Given the description of an element on the screen output the (x, y) to click on. 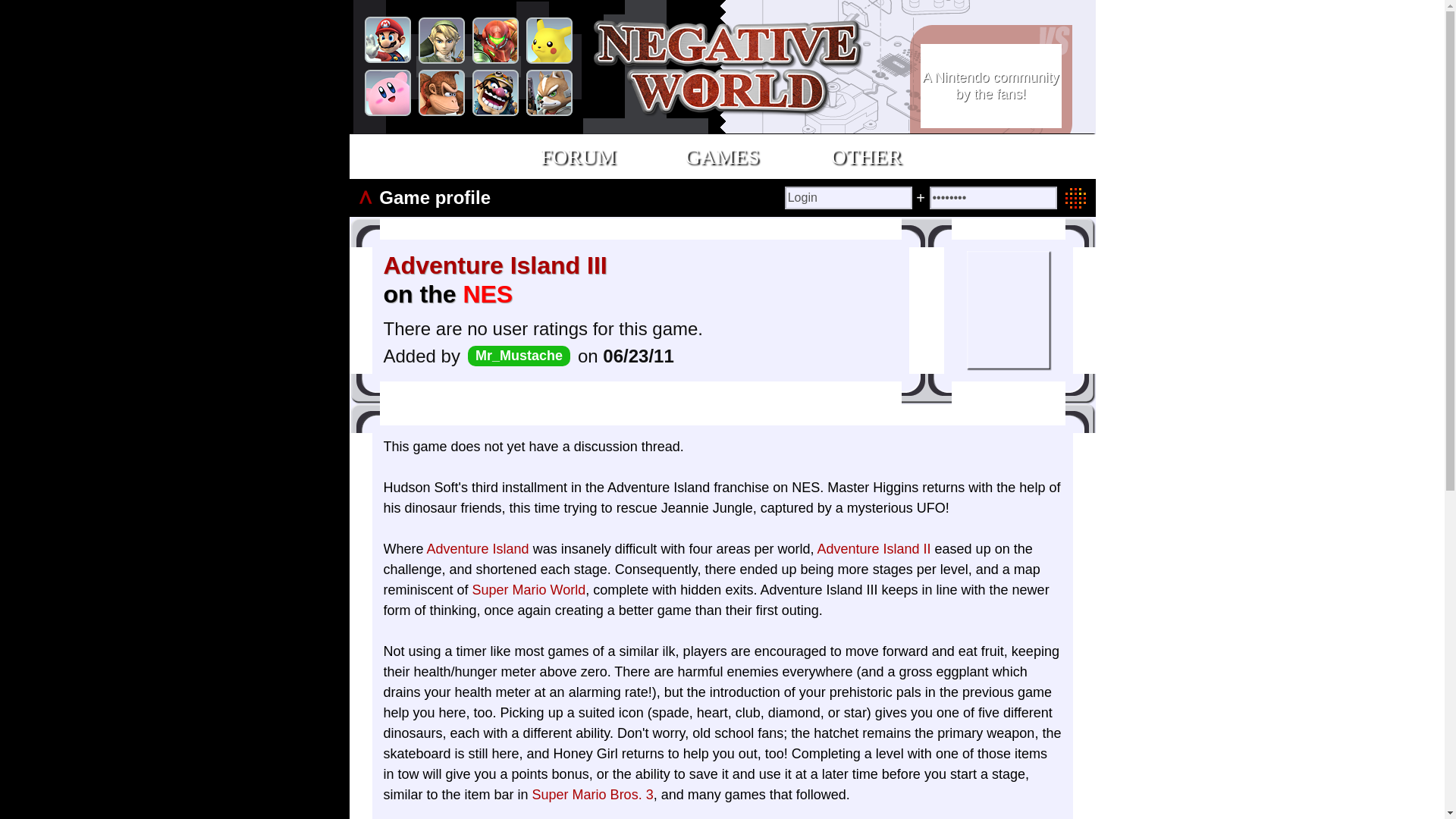
Adventure Island III (495, 265)
GAMES (722, 156)
Adventure Island II (873, 548)
OTHER (866, 156)
Login (848, 197)
Adventure Island (477, 548)
FORUM (578, 156)
NES (487, 293)
Password (993, 197)
